Given the description of an element on the screen output the (x, y) to click on. 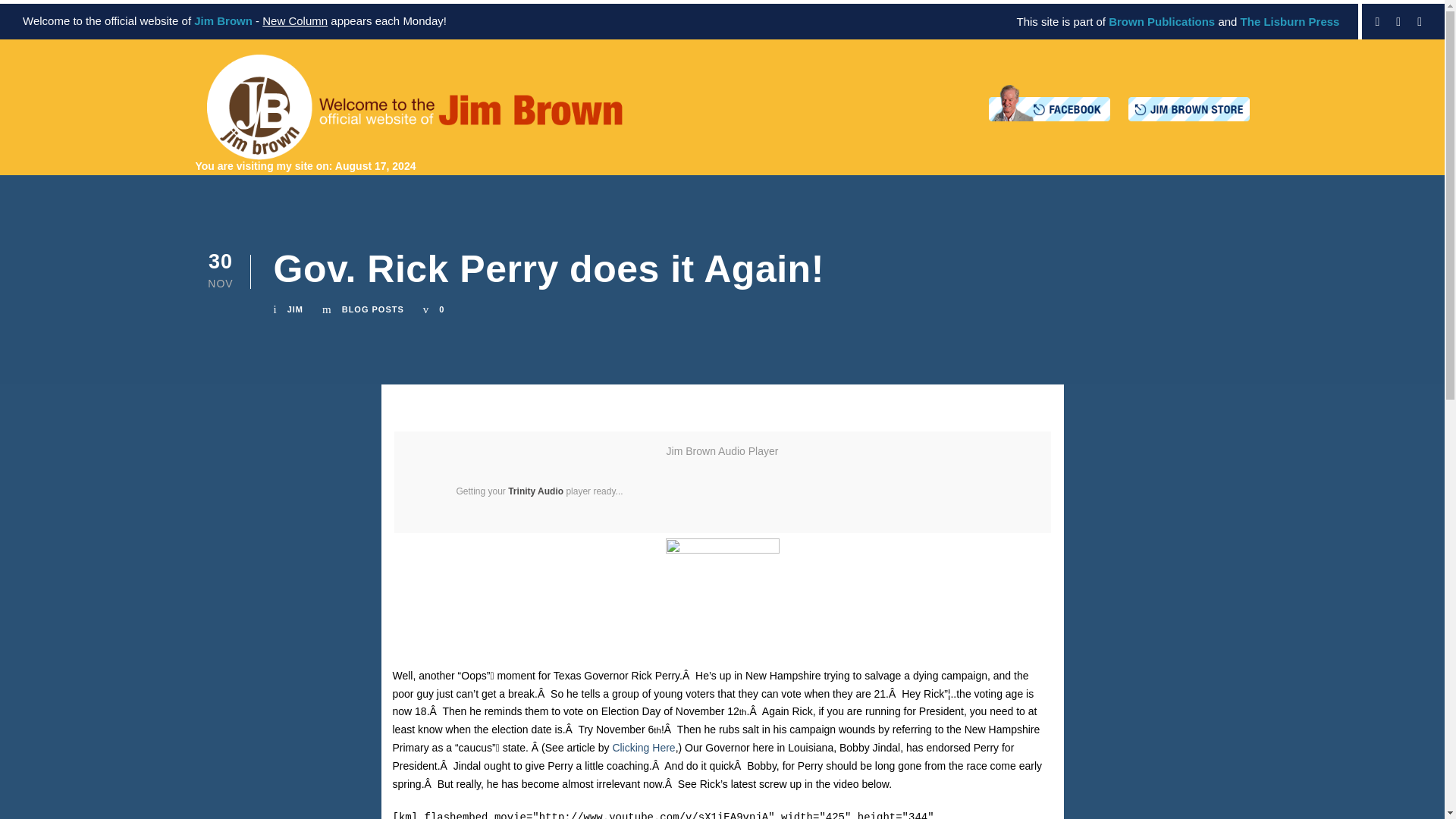
JIM (294, 308)
Perry (721, 594)
Posts by Jim (294, 308)
jb-logo-wide (414, 106)
BLOG POSTS (373, 308)
Trinity Audio (535, 491)
New Column (294, 20)
Clicking Here (643, 747)
